Given the description of an element on the screen output the (x, y) to click on. 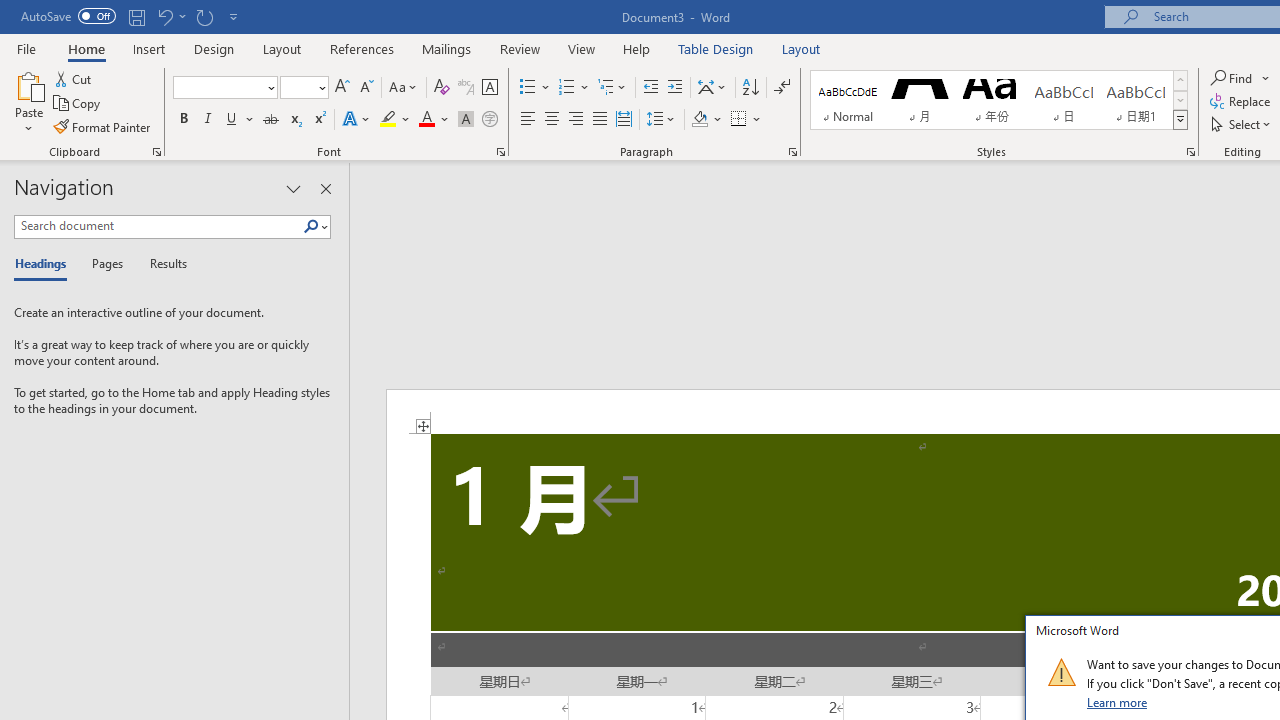
Show/Hide Editing Marks (781, 87)
Multilevel List (613, 87)
Line and Paragraph Spacing (661, 119)
Phonetic Guide... (465, 87)
AutomationID: QuickStylesGallery (999, 99)
